Given the description of an element on the screen output the (x, y) to click on. 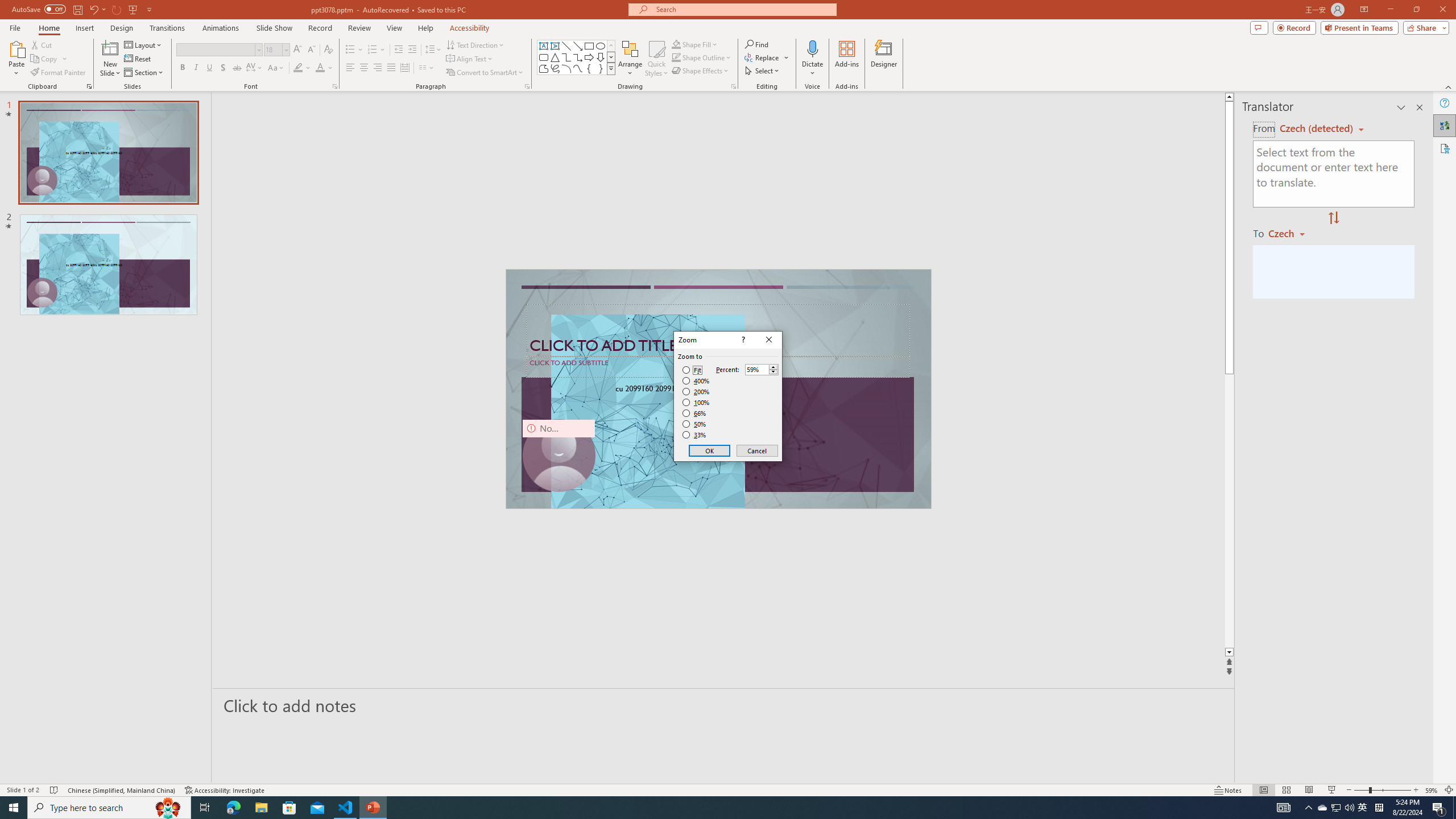
400% (696, 380)
